Given the description of an element on the screen output the (x, y) to click on. 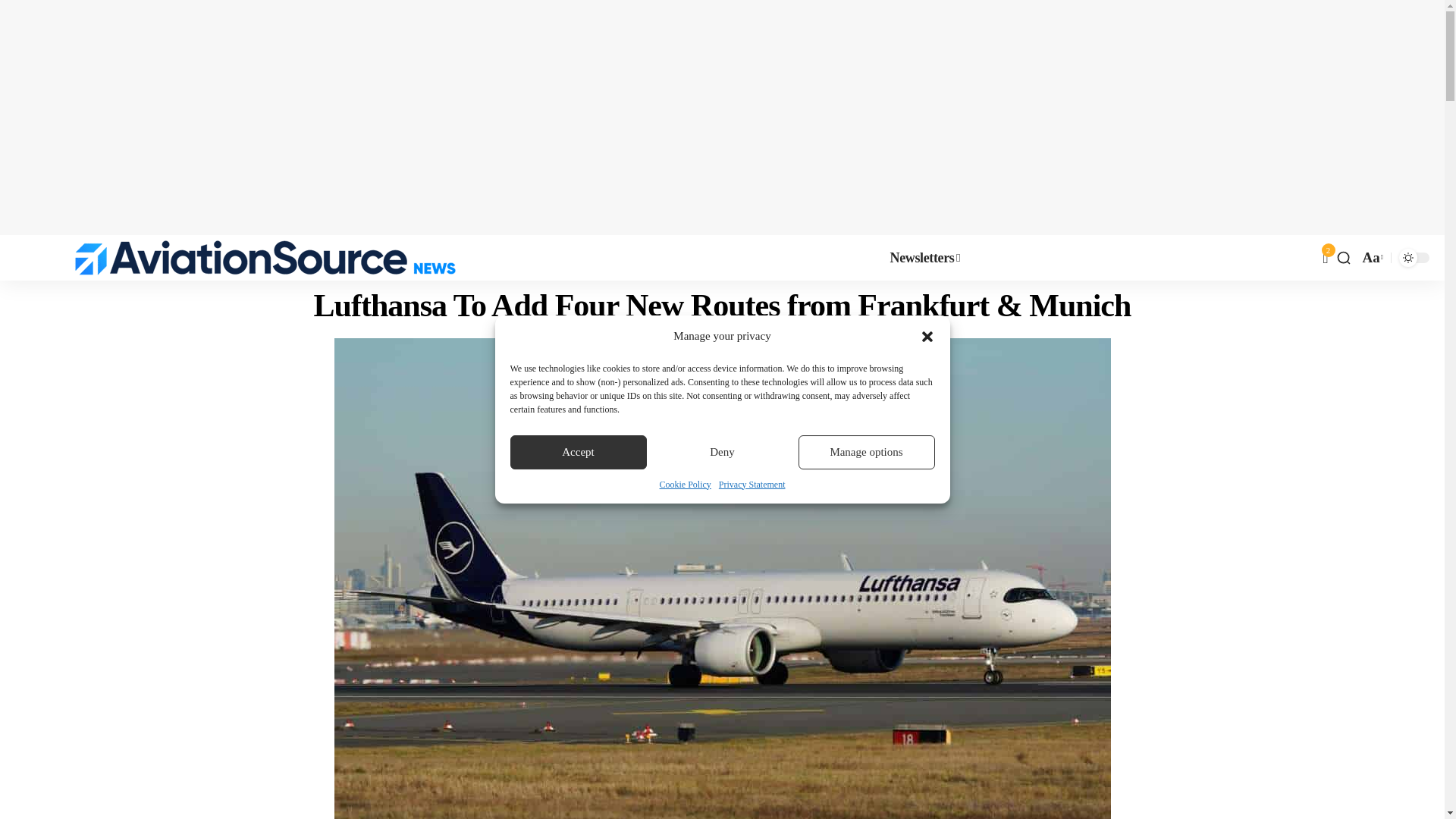
Deny (721, 451)
Aa (1371, 257)
Accept (577, 451)
Newsletters (924, 257)
Privacy Statement (752, 484)
Cookie Policy (685, 484)
AviationSource News (264, 257)
Manage options (865, 451)
